Given the description of an element on the screen output the (x, y) to click on. 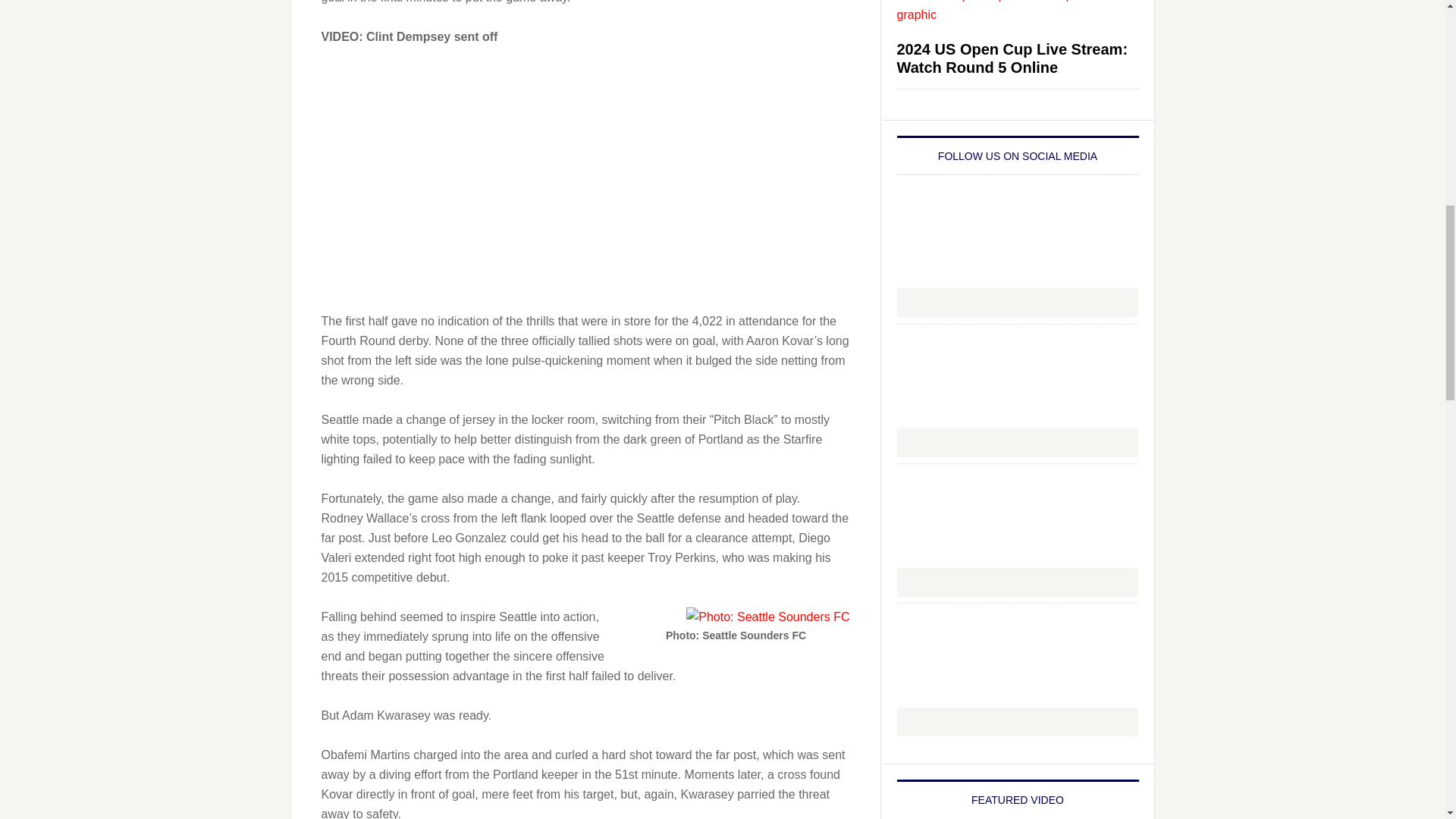
Instagram (1017, 390)
Twitter (1016, 582)
Instagram (1016, 442)
Facebook (1016, 302)
Facebook (1017, 250)
YouTube (1016, 721)
YouTube (1017, 669)
2024 US Open Cup Live Stream: Watch Round 5 Online (1011, 58)
Twitter (1017, 530)
